Given the description of an element on the screen output the (x, y) to click on. 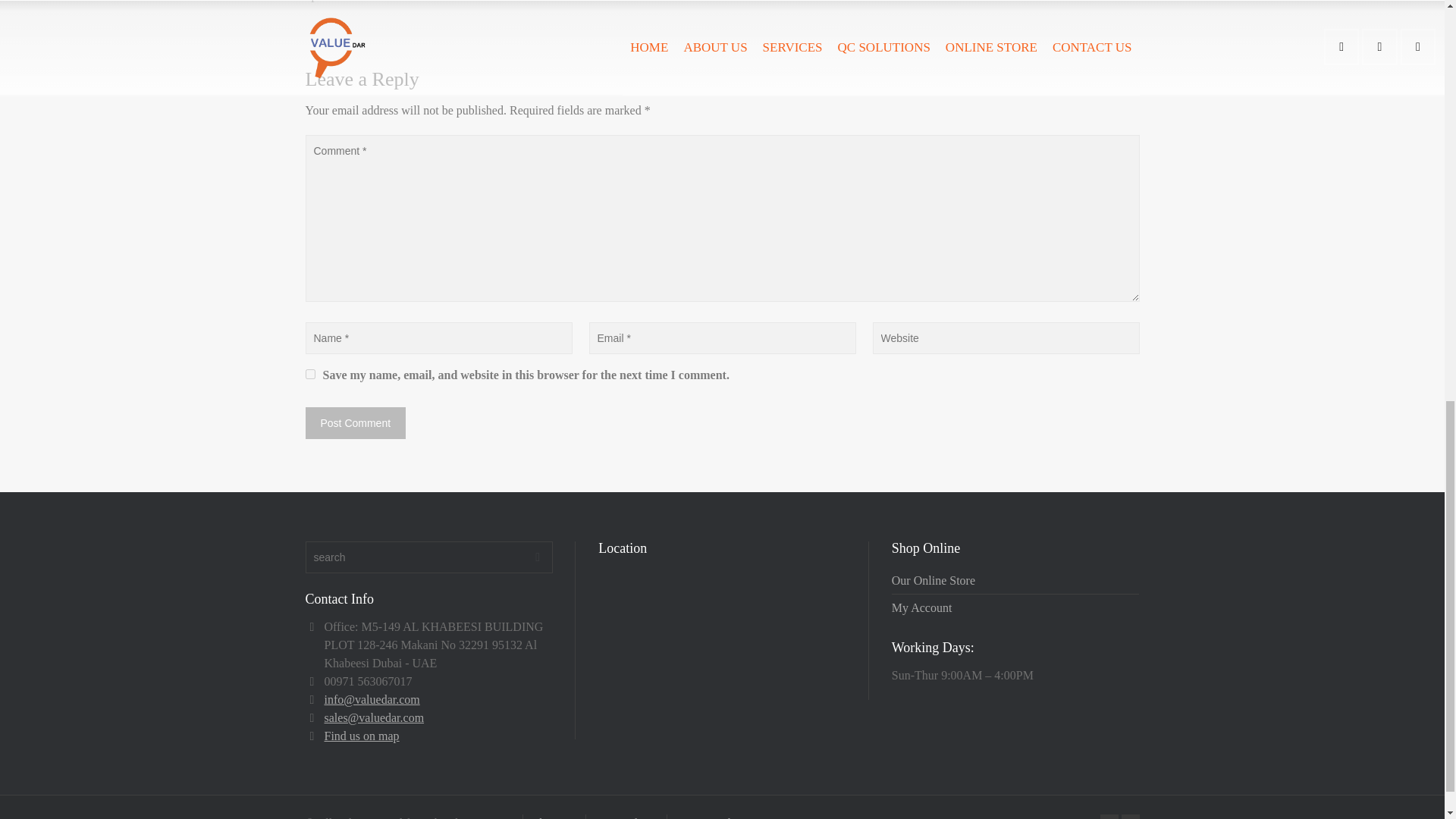
My Account (921, 607)
Find us on map (361, 735)
Facebook (1108, 816)
Our Online Store (933, 580)
Find us on map (361, 735)
Terms of Use (626, 817)
Post Comment (355, 422)
About Us (554, 817)
Privacy Policy (710, 817)
Post Comment (355, 422)
